Given the description of an element on the screen output the (x, y) to click on. 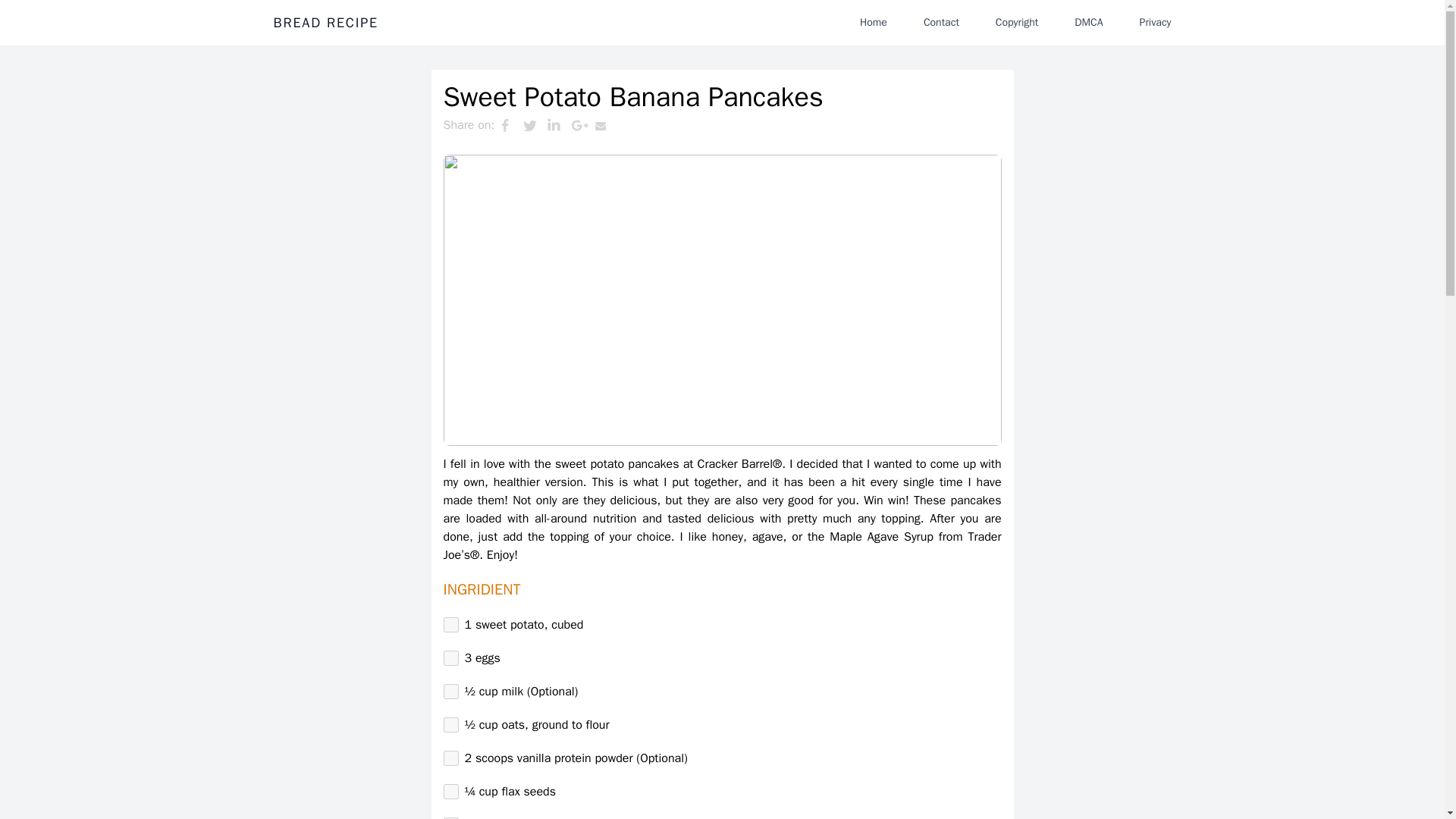
on (450, 791)
Home (873, 22)
DMCA (1088, 22)
on (450, 758)
Share this on Twitter (534, 125)
Privacy (1154, 22)
Share this through Email (607, 125)
BREAD RECIPE (325, 22)
on (450, 657)
Share this on Linkedin (558, 125)
